Given the description of an element on the screen output the (x, y) to click on. 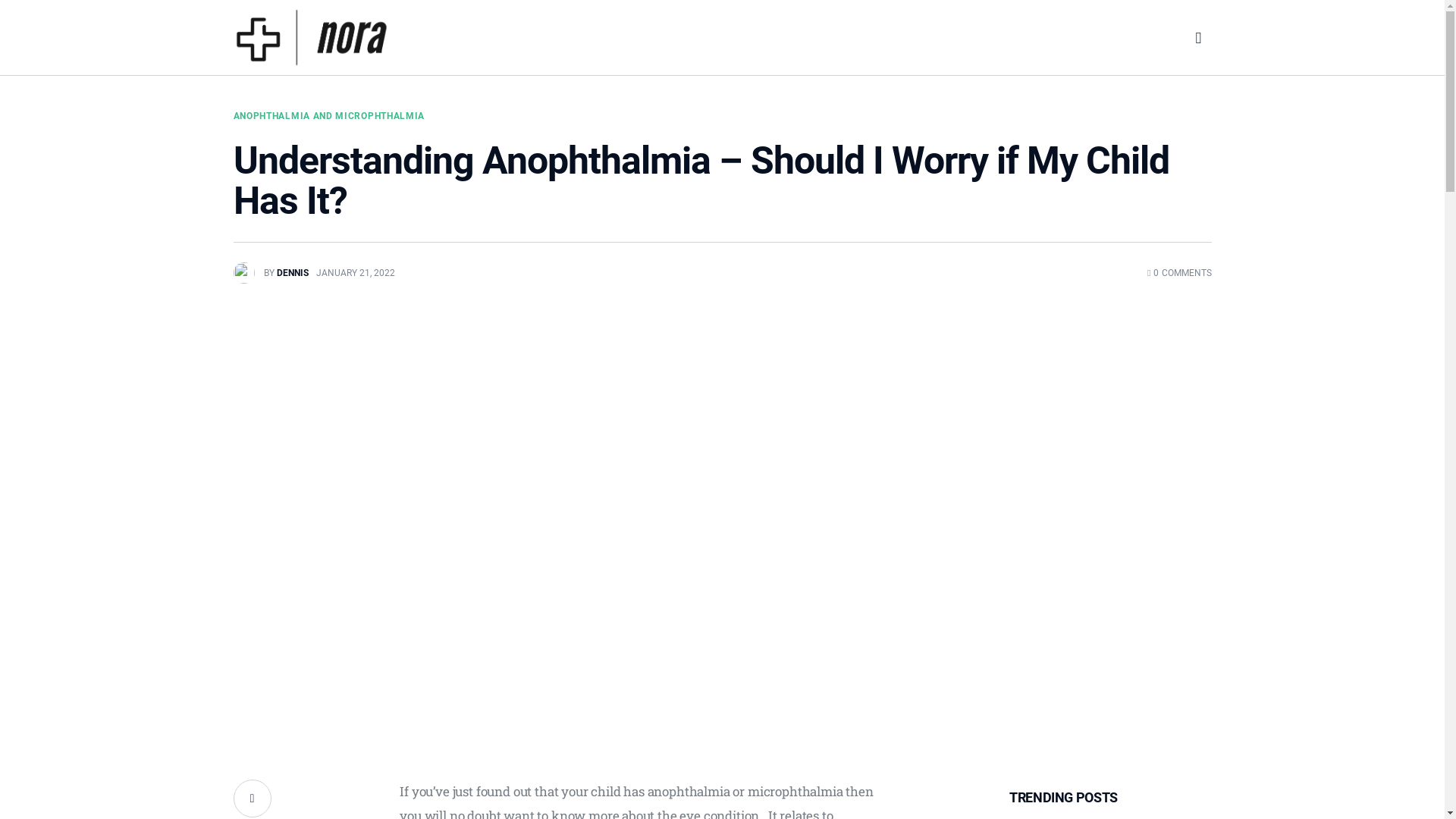
0COMMENTS Element type: text (1179, 272)
ANOPHTHALMIA AND MICROPHTHALMIA Element type: text (329, 115)
BY
DENNIS Element type: text (274, 272)
